Given the description of an element on the screen output the (x, y) to click on. 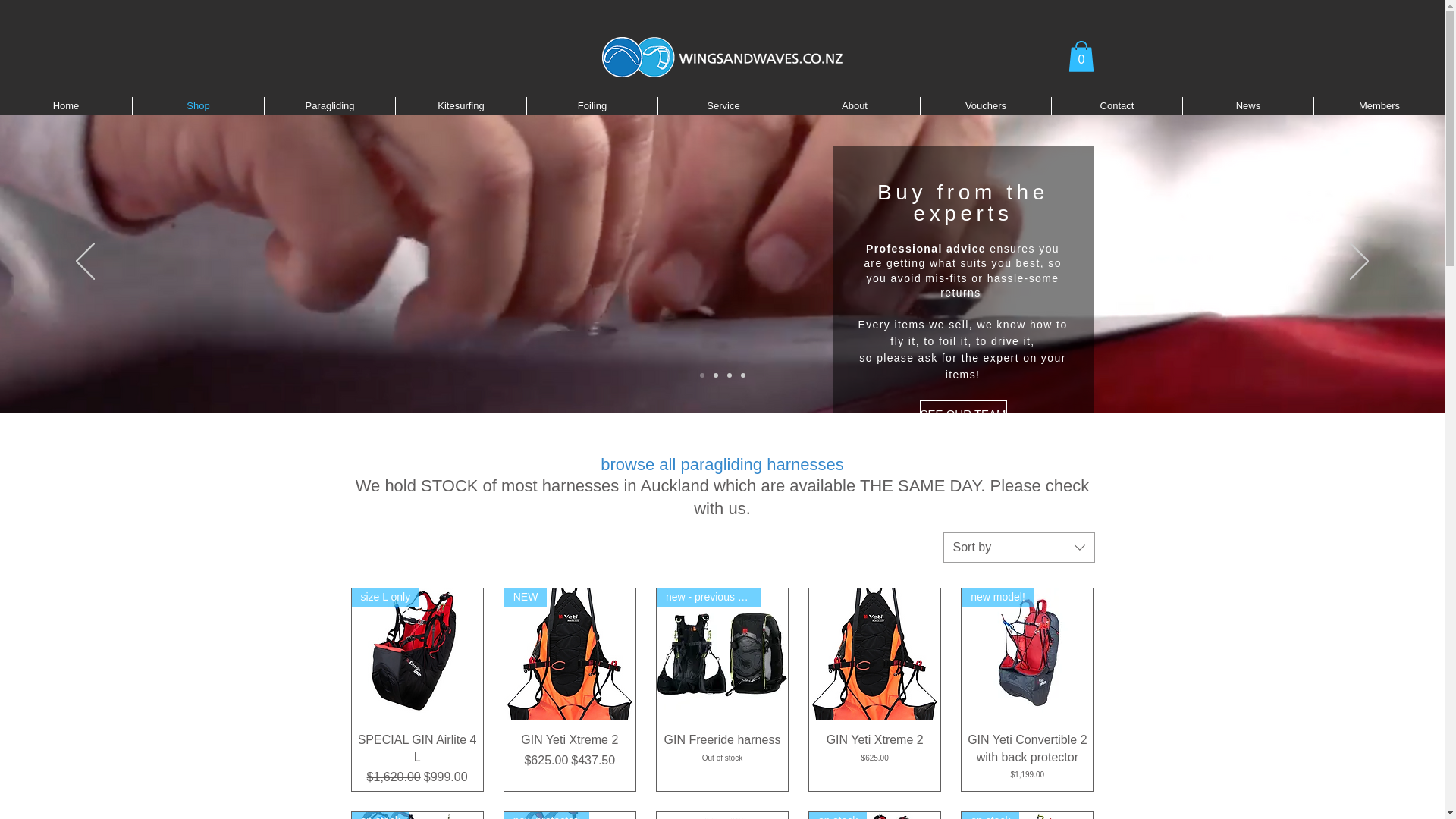
Shop (197, 106)
Kitesurfing (460, 106)
Home (66, 106)
Wingsandwaves logo (722, 56)
Paragliding (329, 106)
